Given the description of an element on the screen output the (x, y) to click on. 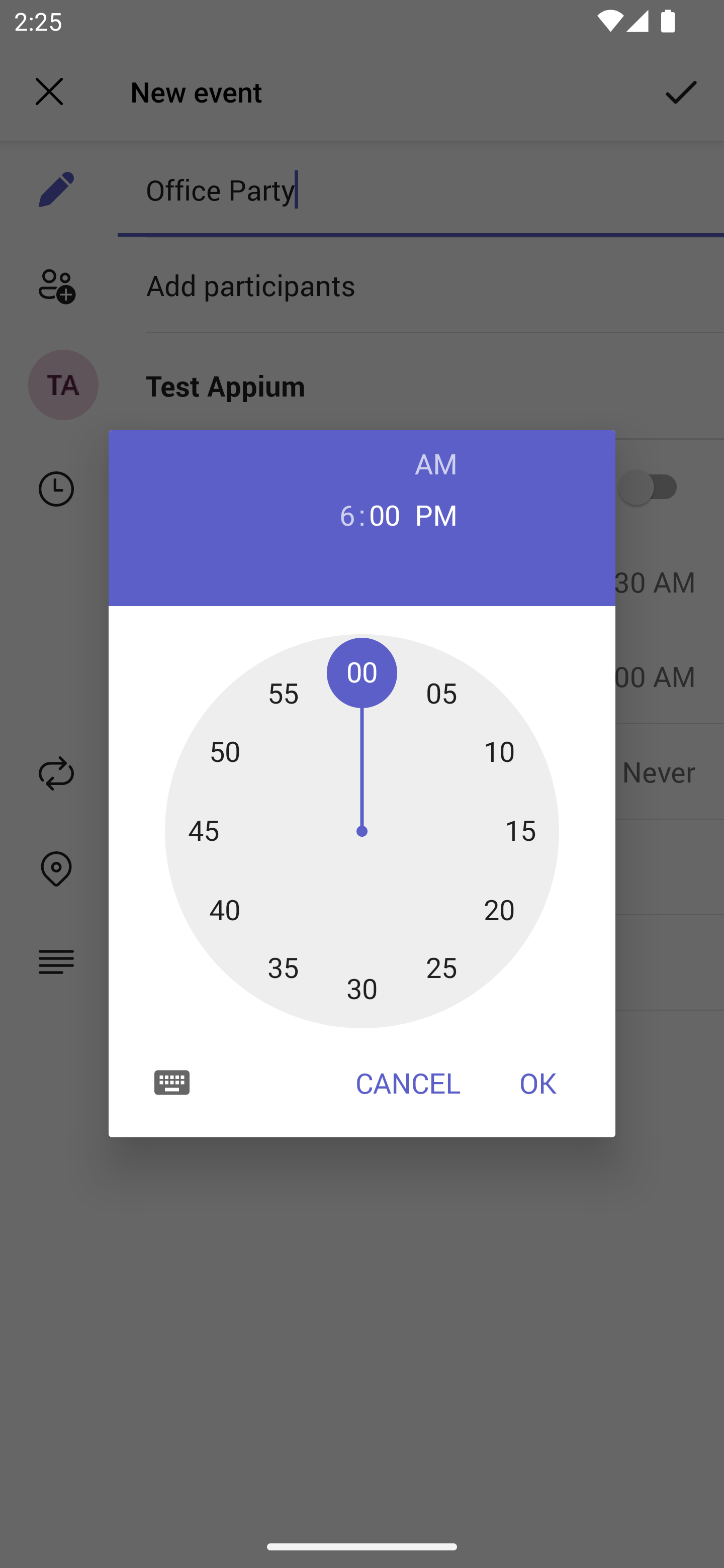
AM (435, 463)
PM (435, 514)
6 (338, 514)
00 (384, 514)
CANCEL (407, 1082)
OK (537, 1082)
Switch to text input mode for the time input. (171, 1081)
